Given the description of an element on the screen output the (x, y) to click on. 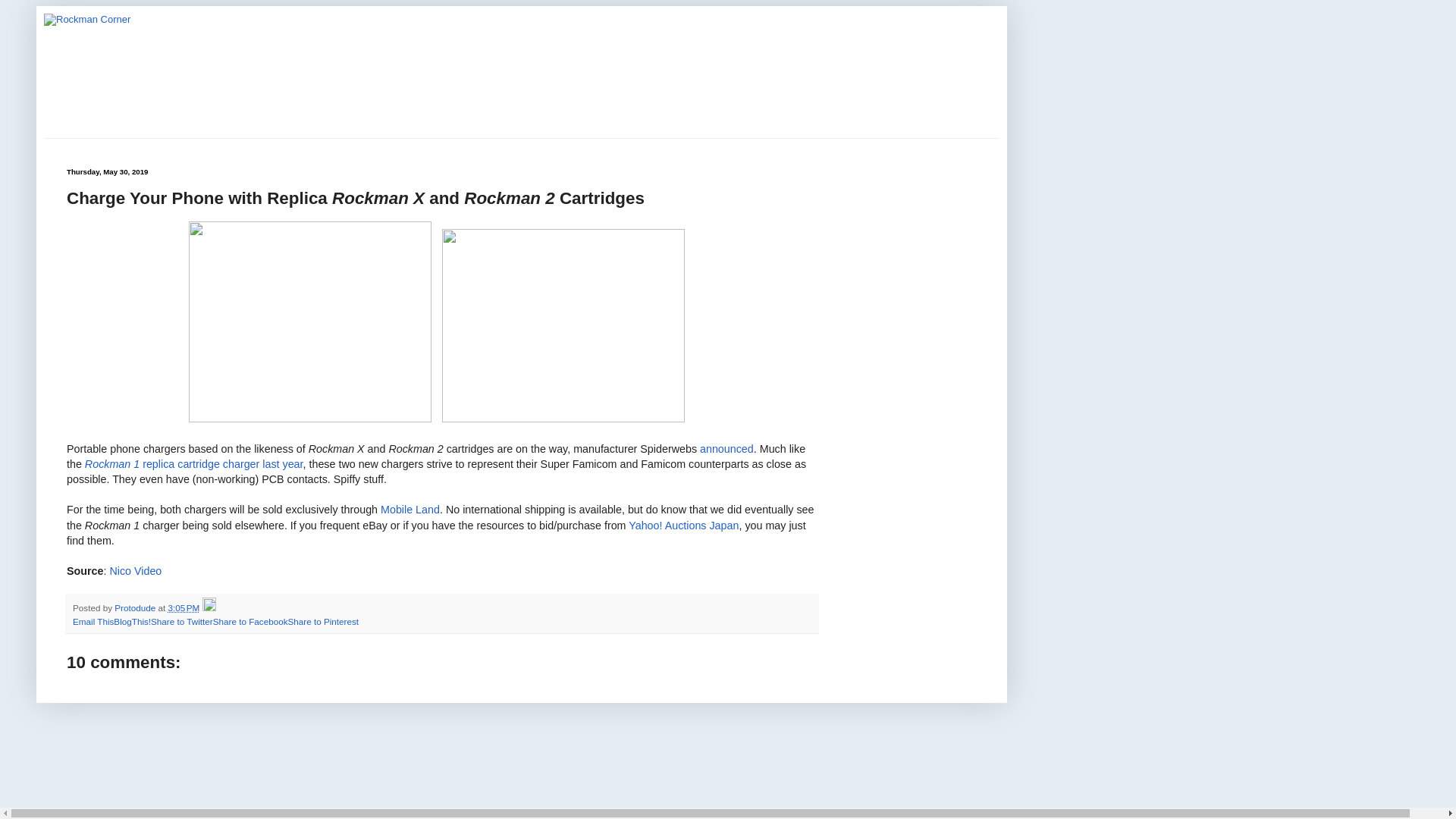
announced (727, 449)
Nico Video (135, 571)
BlogThis! (132, 621)
Share to Twitter (181, 621)
Email This (92, 621)
Yahoo! Auctions Japan (683, 524)
BlogThis! (132, 621)
Share to Pinterest (322, 621)
Protodude (136, 607)
Email This (92, 621)
